Given the description of an element on the screen output the (x, y) to click on. 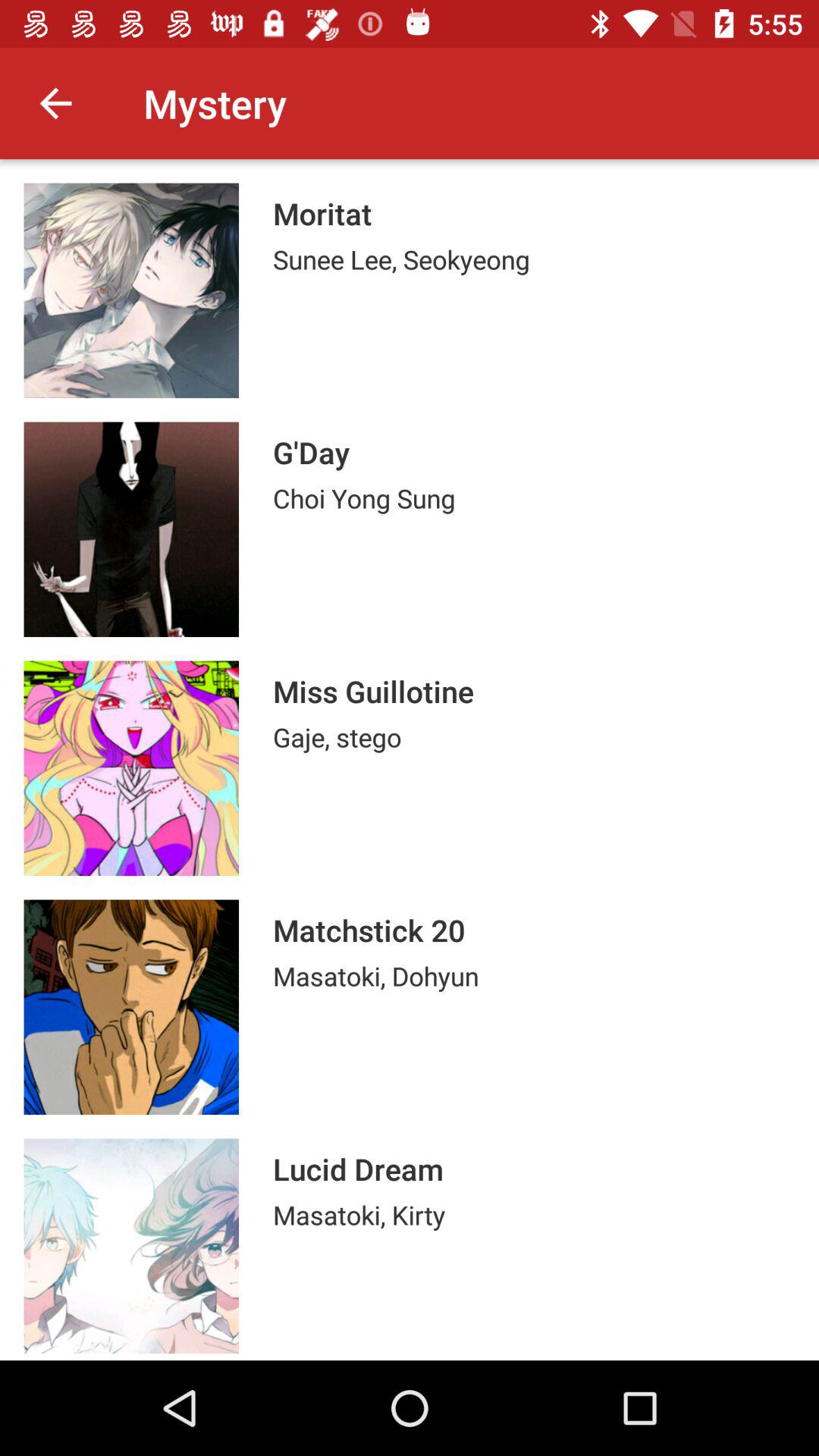
click the item next to mystery icon (55, 103)
